Given the description of an element on the screen output the (x, y) to click on. 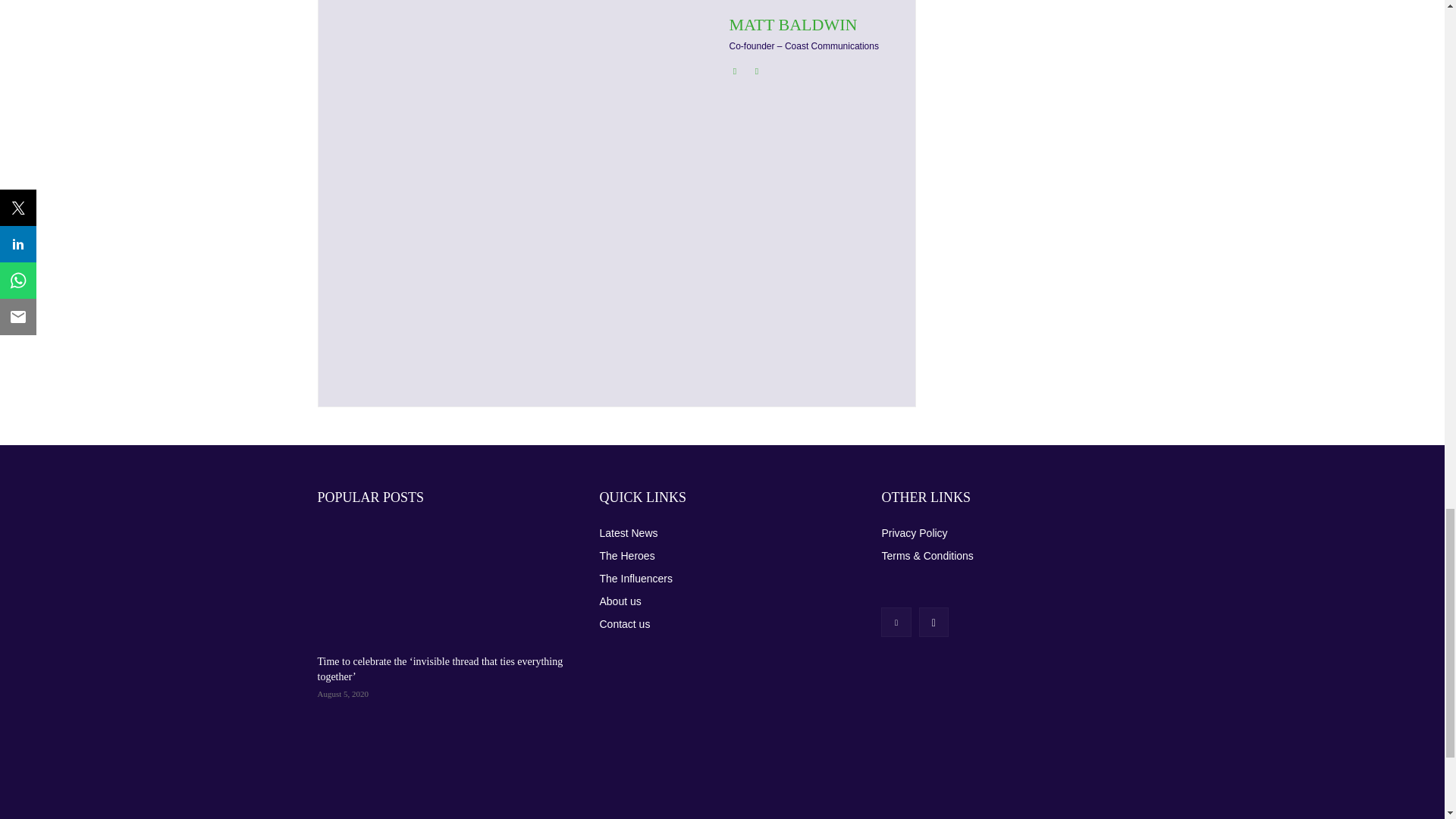
Twitter (756, 68)
MATT BALDWIN (804, 24)
Linkedin (735, 68)
